Given the description of an element on the screen output the (x, y) to click on. 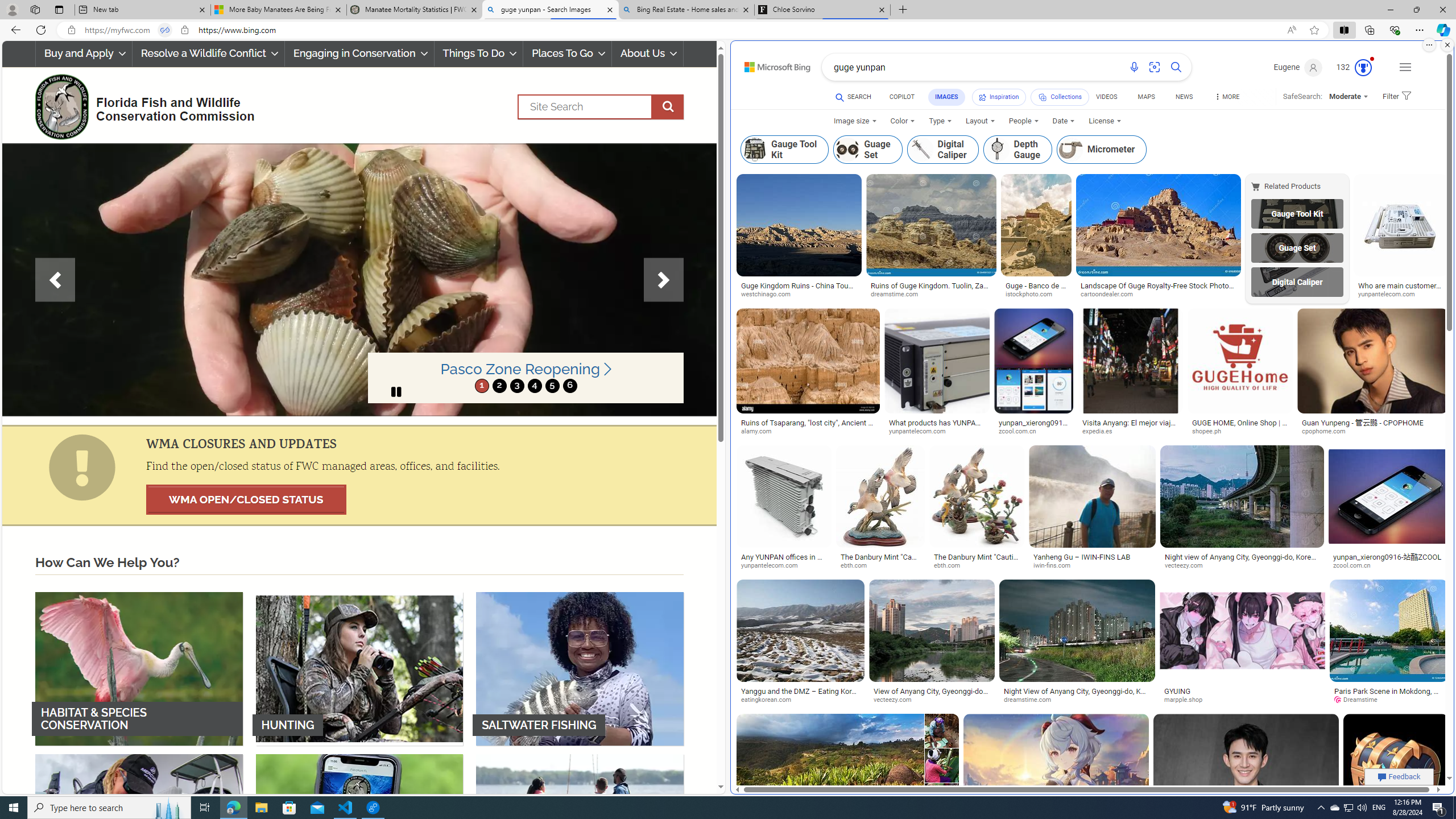
COPILOT (901, 98)
ebth.com (950, 565)
guge yunpan - Search Images (550, 9)
move to slide 6 (569, 385)
Buy and Apply (84, 53)
Color (902, 121)
Close split screen. (1447, 45)
Places To Go (566, 53)
